Given the description of an element on the screen output the (x, y) to click on. 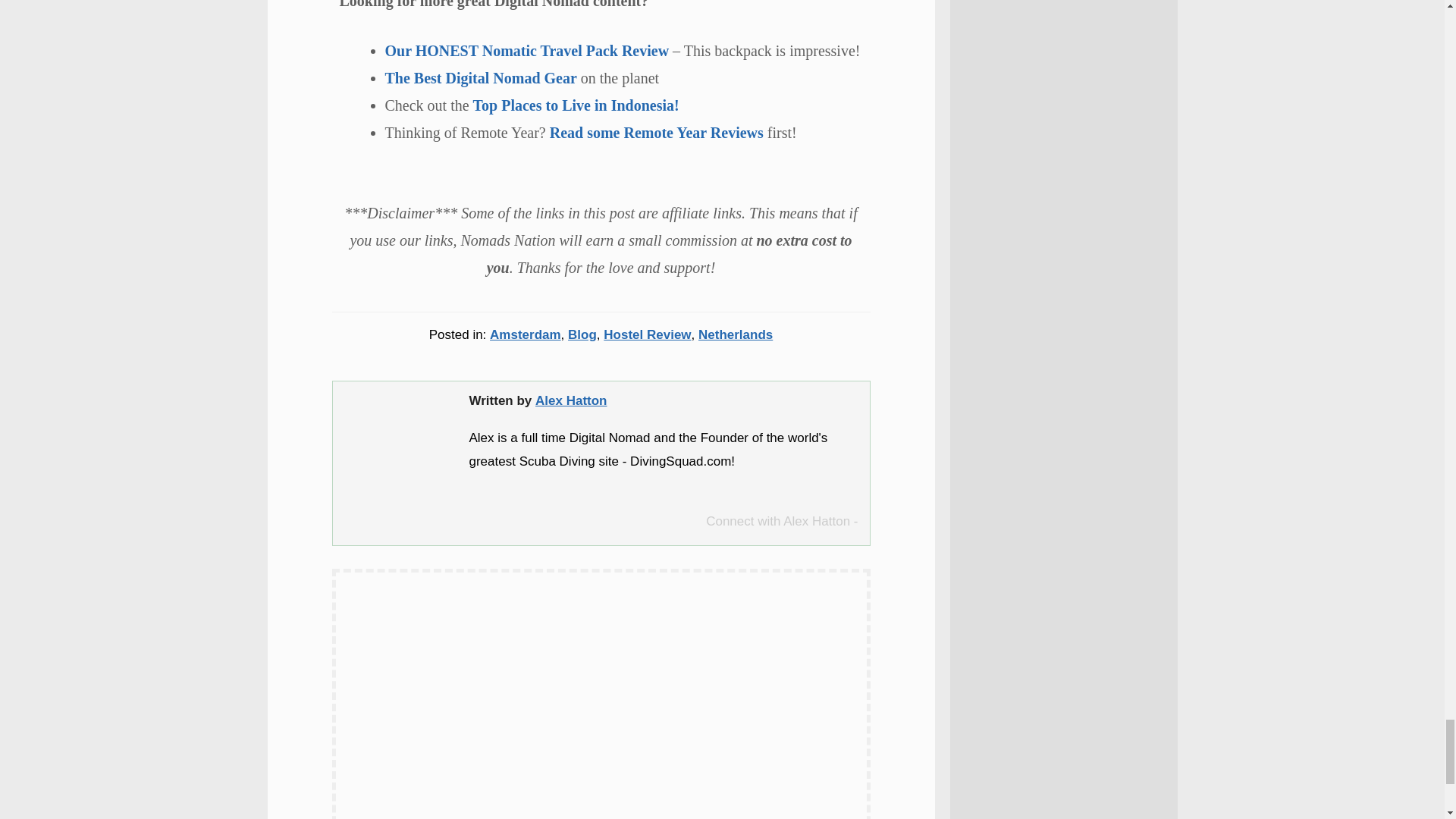
Our HONEST Nomatic Travel Pack Review (527, 50)
The Best Digital Nomad Gear (480, 77)
